Given the description of an element on the screen output the (x, y) to click on. 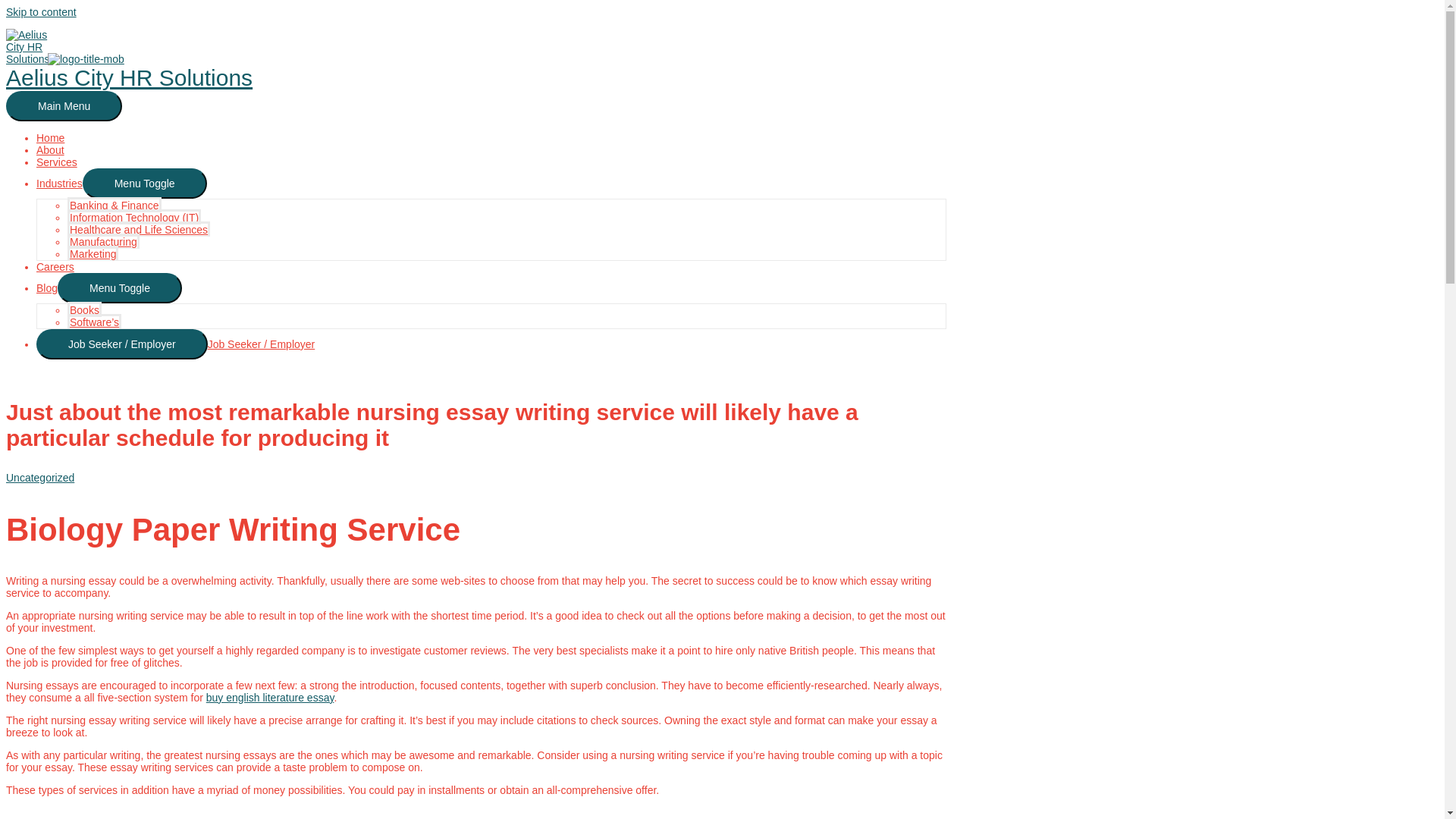
Menu Toggle (144, 183)
Manufacturing (102, 240)
Uncategorized (39, 477)
Home (50, 137)
Skip to content (41, 11)
Books (83, 309)
Healthcare and Life Sciences (137, 228)
Main Menu (63, 105)
Marketing (91, 253)
Careers (55, 266)
Menu Toggle (120, 287)
Services (56, 162)
About (50, 150)
Blog (47, 287)
Industries (59, 183)
